Given the description of an element on the screen output the (x, y) to click on. 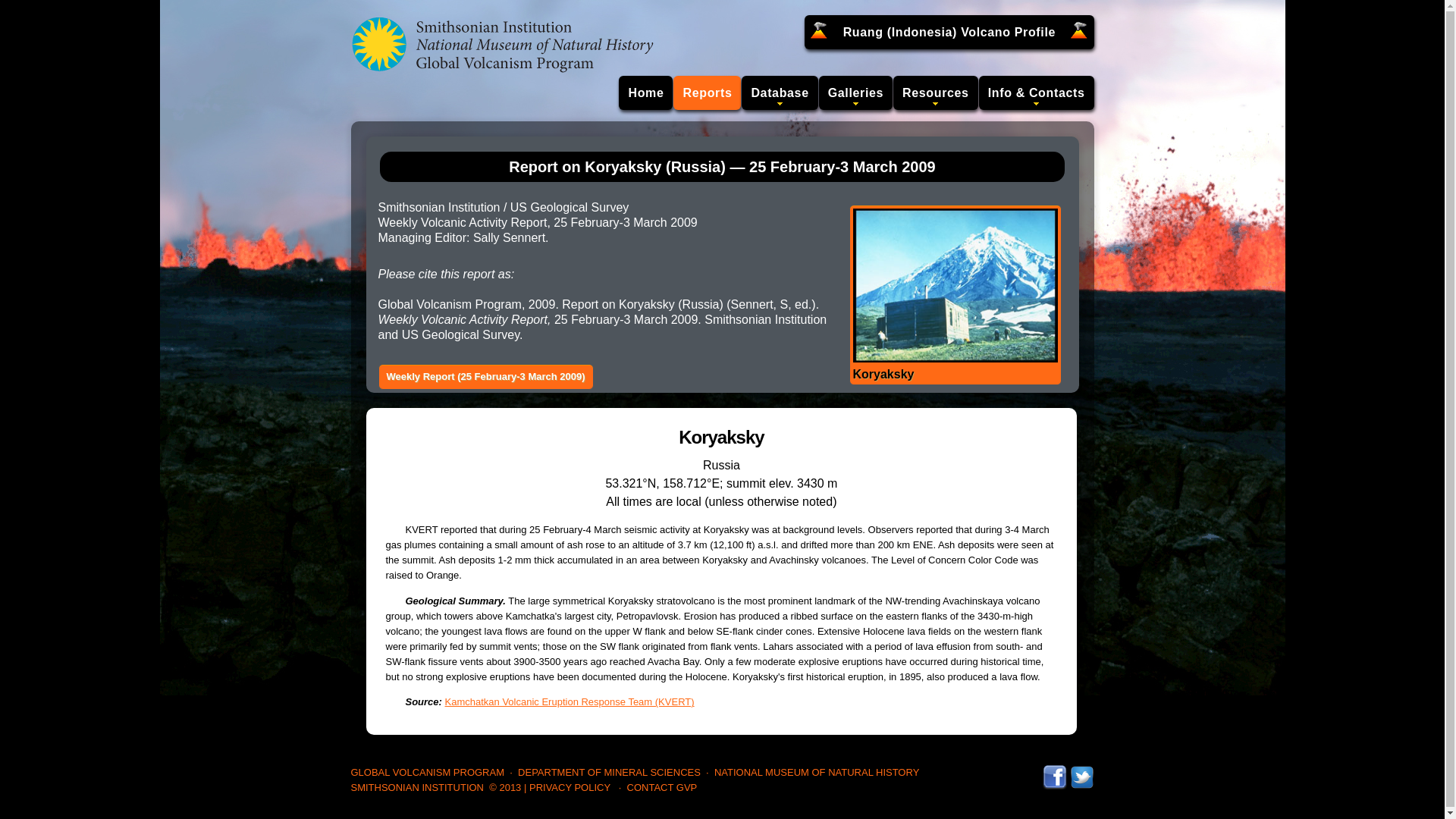
Resources (935, 92)
Send email to GVP (662, 787)
Link to Copyright Notice (505, 787)
Twitter (1080, 772)
Koryaksky (954, 294)
Facebook (1054, 772)
Reports (706, 92)
Home (645, 92)
Galleries (855, 92)
Link to Privacy Notice (569, 787)
Database (778, 92)
